Given the description of an element on the screen output the (x, y) to click on. 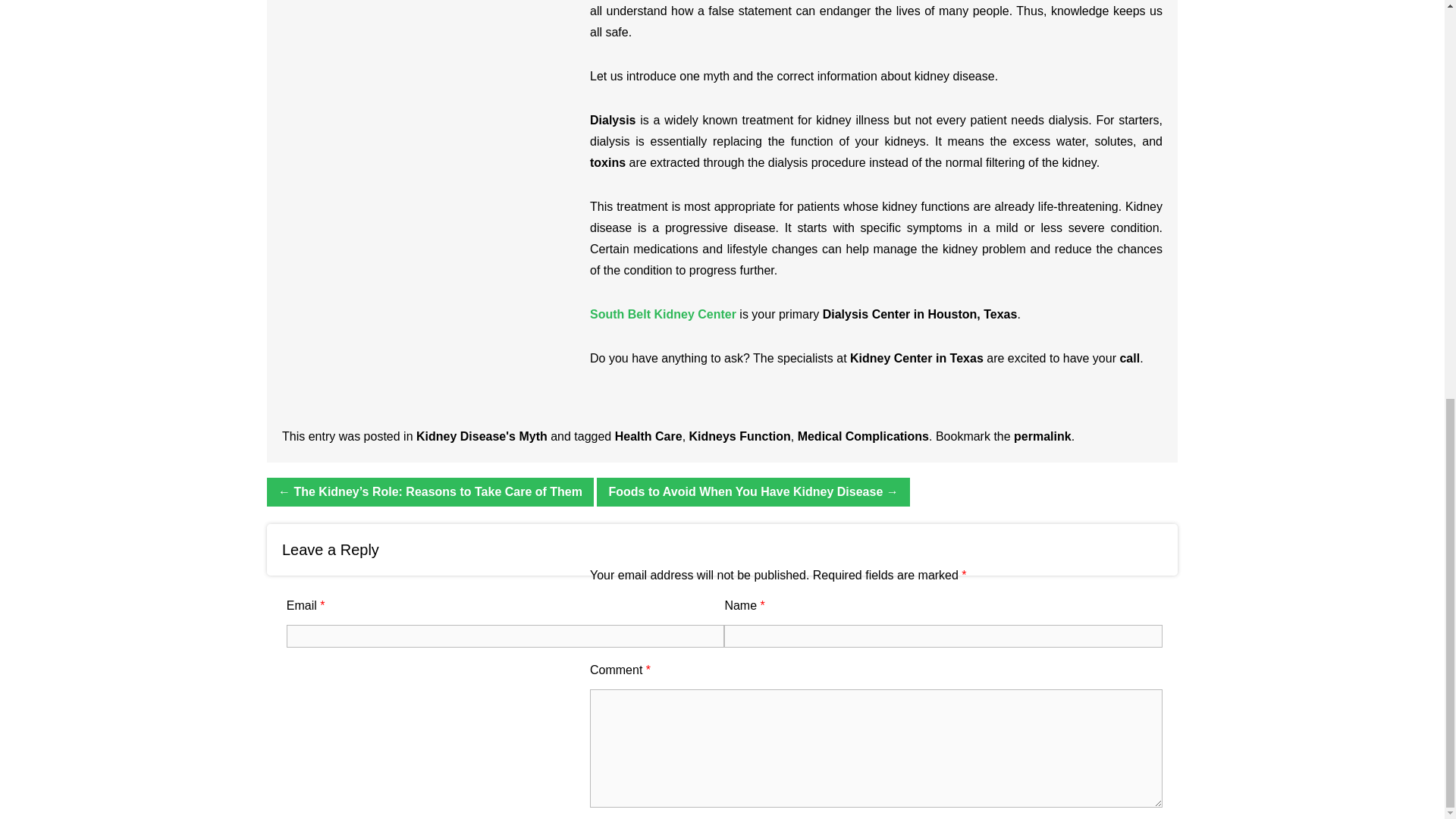
Kidneys Function (739, 436)
Kidney Disease's Myth (481, 436)
Dialysis (611, 119)
toxins (607, 162)
Health Care (648, 436)
Permalink to One Fact and One Myth about Kidney Disease (1042, 436)
Kidney Center in Texas (917, 358)
Medical Complications (862, 436)
Dialysis Center in Houston, Texas (919, 314)
permalink (1042, 436)
